Given the description of an element on the screen output the (x, y) to click on. 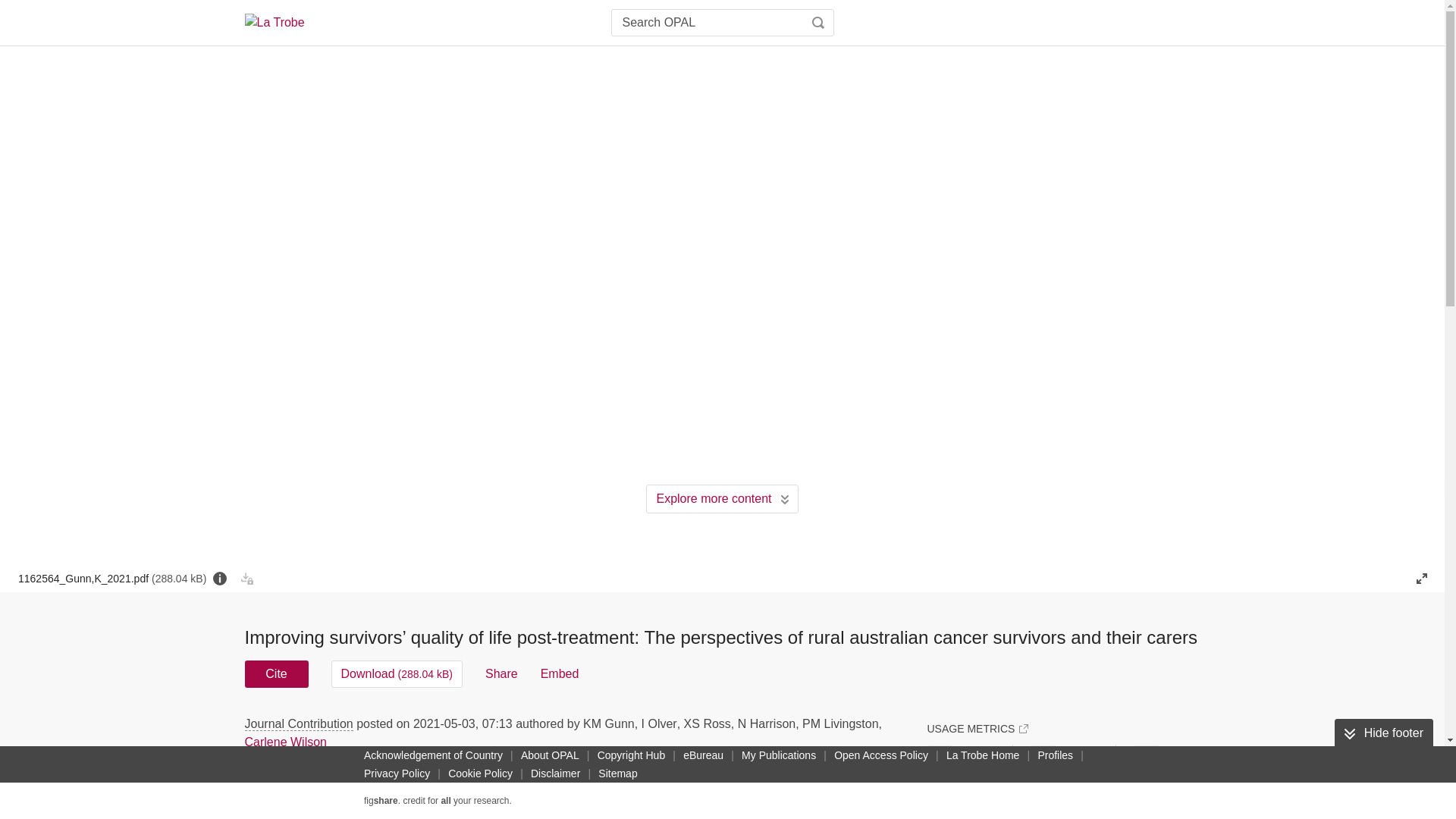
Embed (559, 673)
Cite (275, 673)
Hide footer (1383, 733)
Share (501, 673)
Acknowledgement of Country (432, 755)
Explore more content (721, 498)
Carlene Wilson (285, 741)
USAGE METRICS (976, 728)
